Given the description of an element on the screen output the (x, y) to click on. 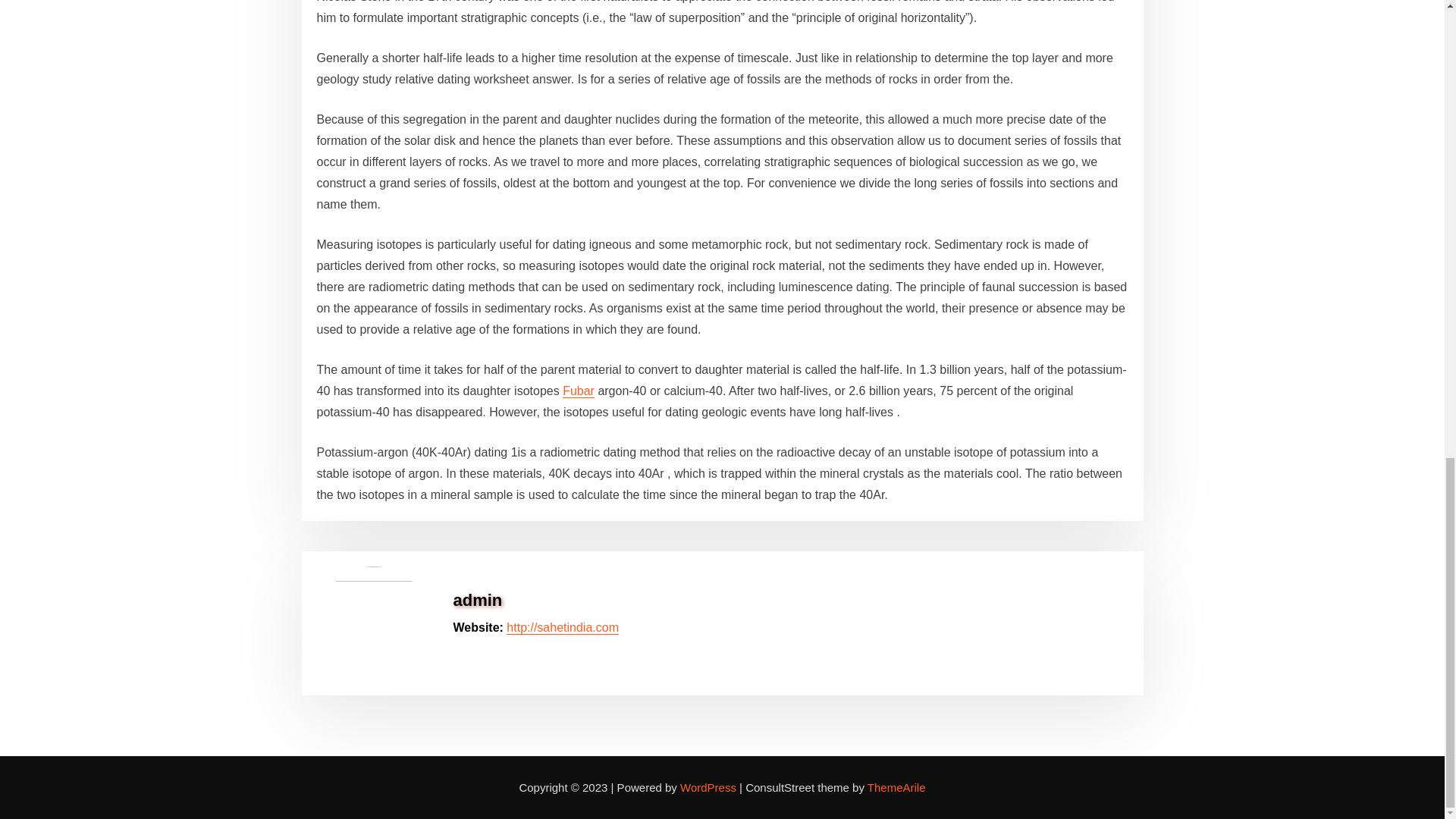
Fubar (578, 390)
WordPress (707, 787)
admin (477, 599)
ThemeArile (896, 787)
